Given the description of an element on the screen output the (x, y) to click on. 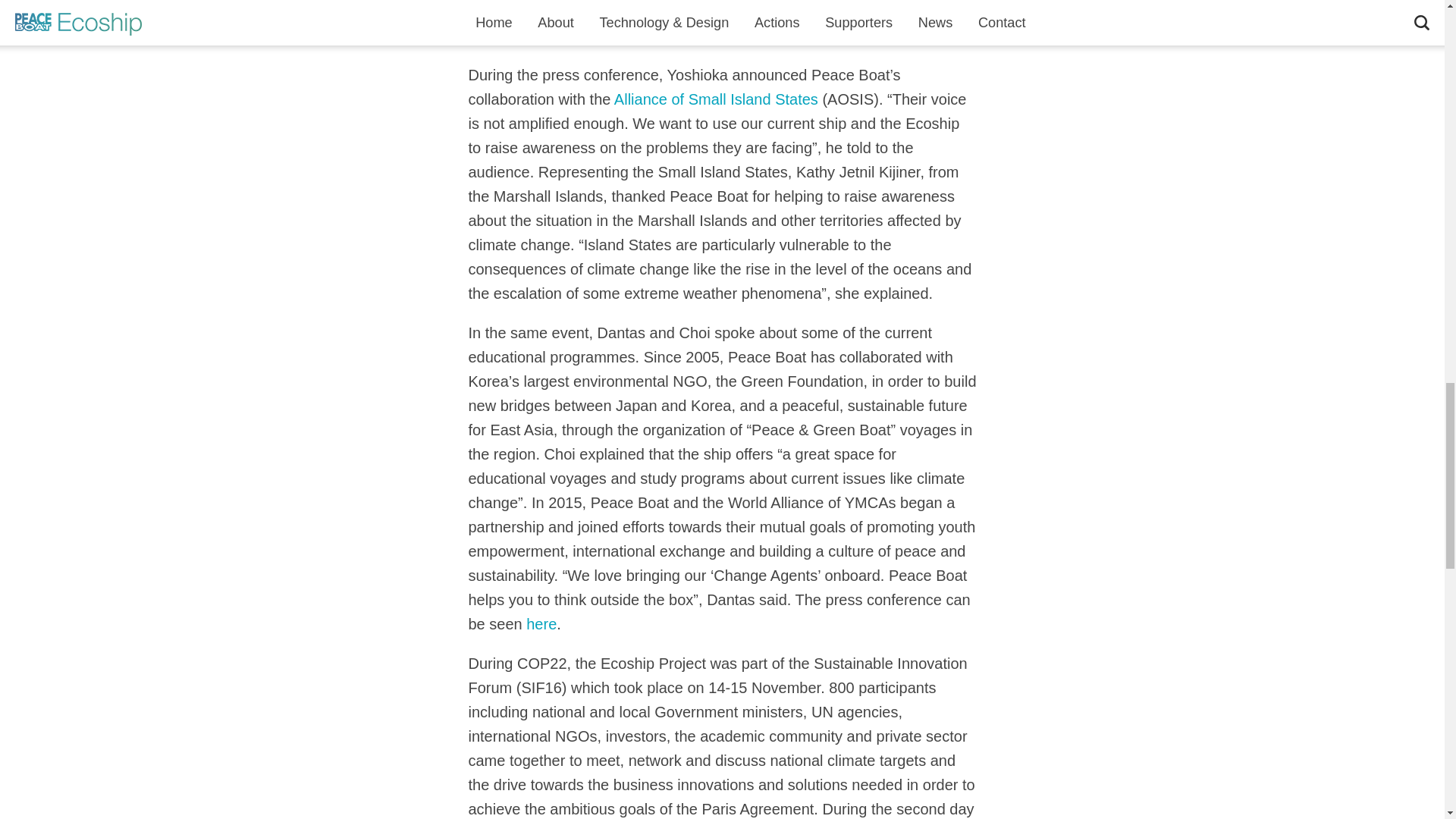
Alliance of Small Island States (716, 98)
